Given the description of an element on the screen output the (x, y) to click on. 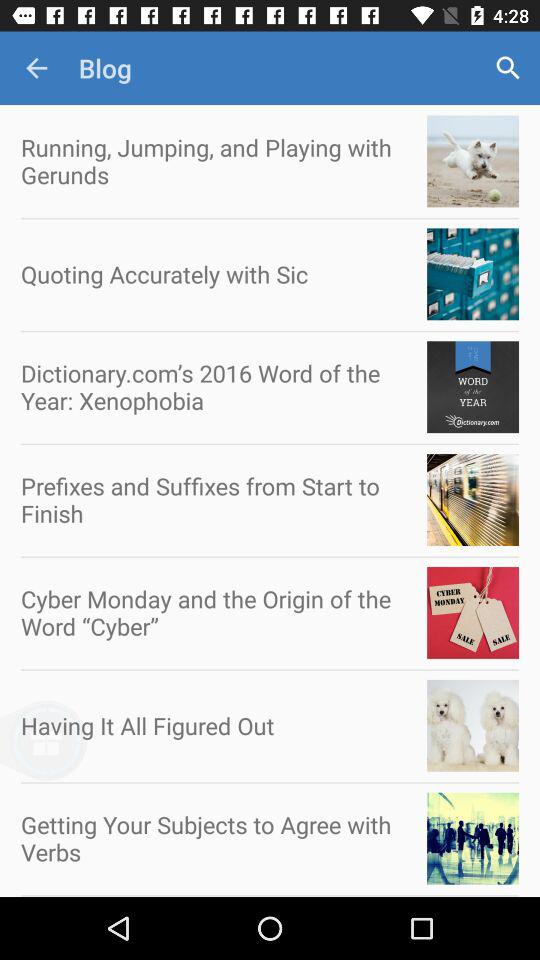
press the icon below cyber monday and (78, 752)
